Given the description of an element on the screen output the (x, y) to click on. 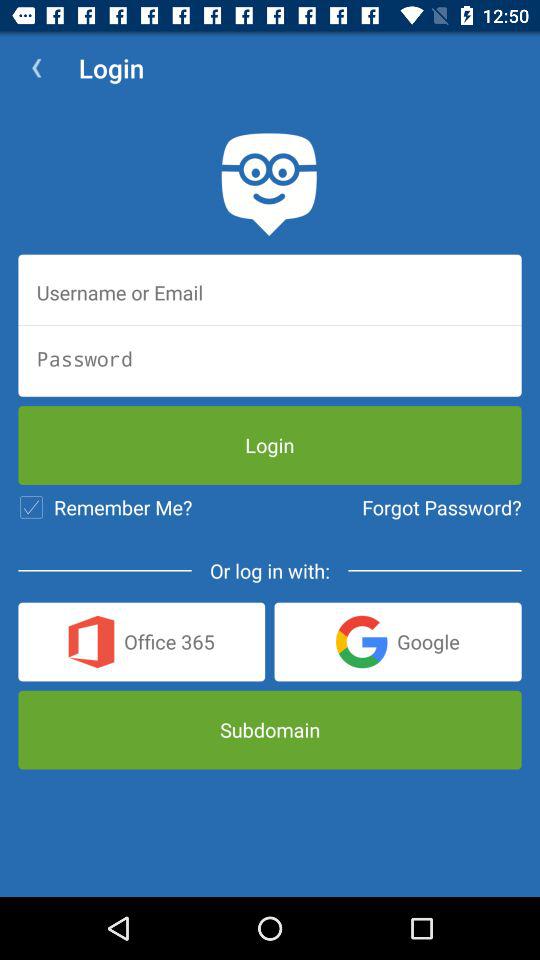
flip until remember me? (105, 507)
